Given the description of an element on the screen output the (x, y) to click on. 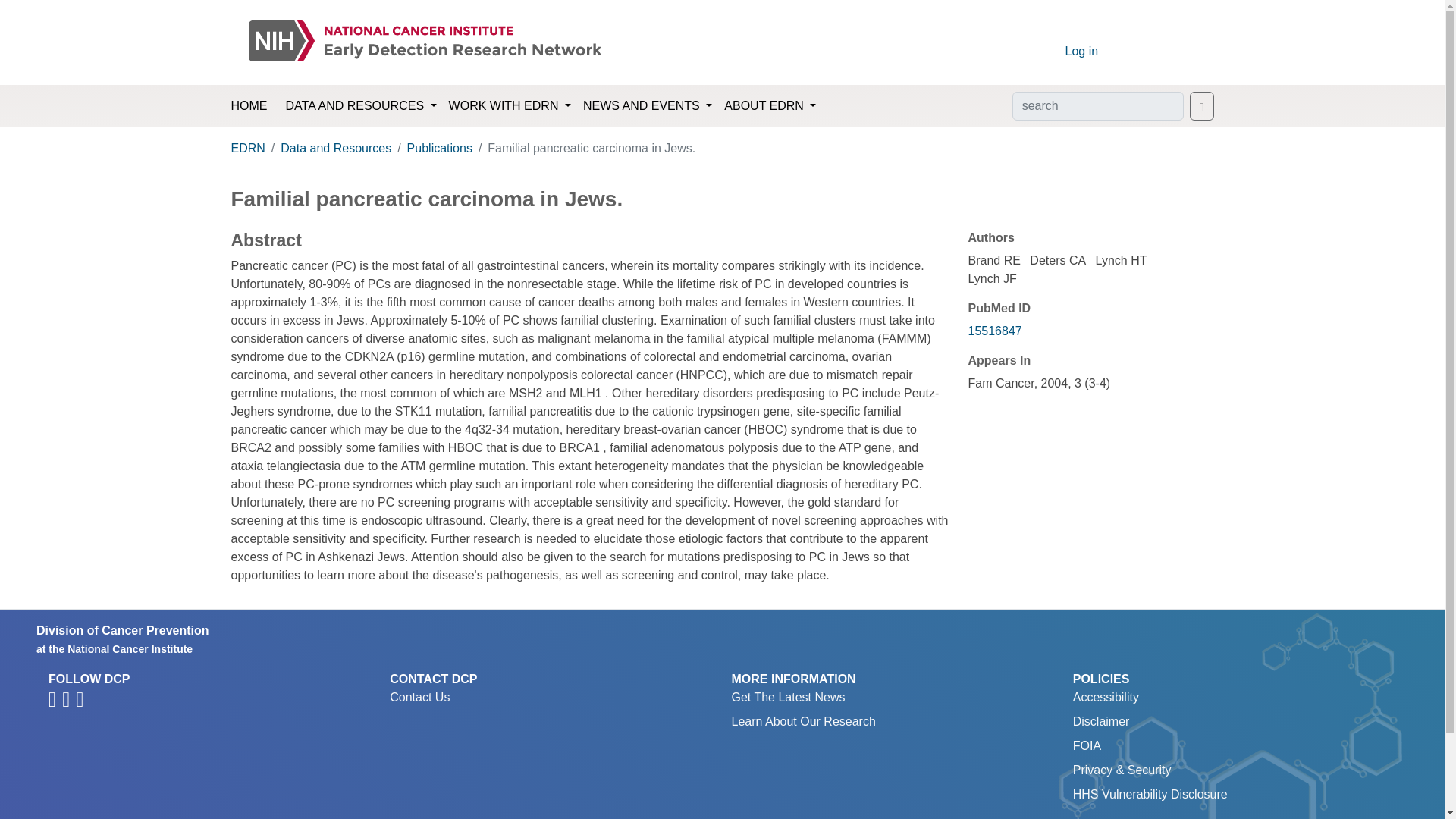
DATA AND RESOURCES (360, 105)
WORK WITH EDRN (509, 105)
Log in (1080, 51)
EDRN (247, 147)
ABOUT EDRN (769, 105)
HOME (248, 105)
NEWS AND EVENTS (646, 105)
